Given the description of an element on the screen output the (x, y) to click on. 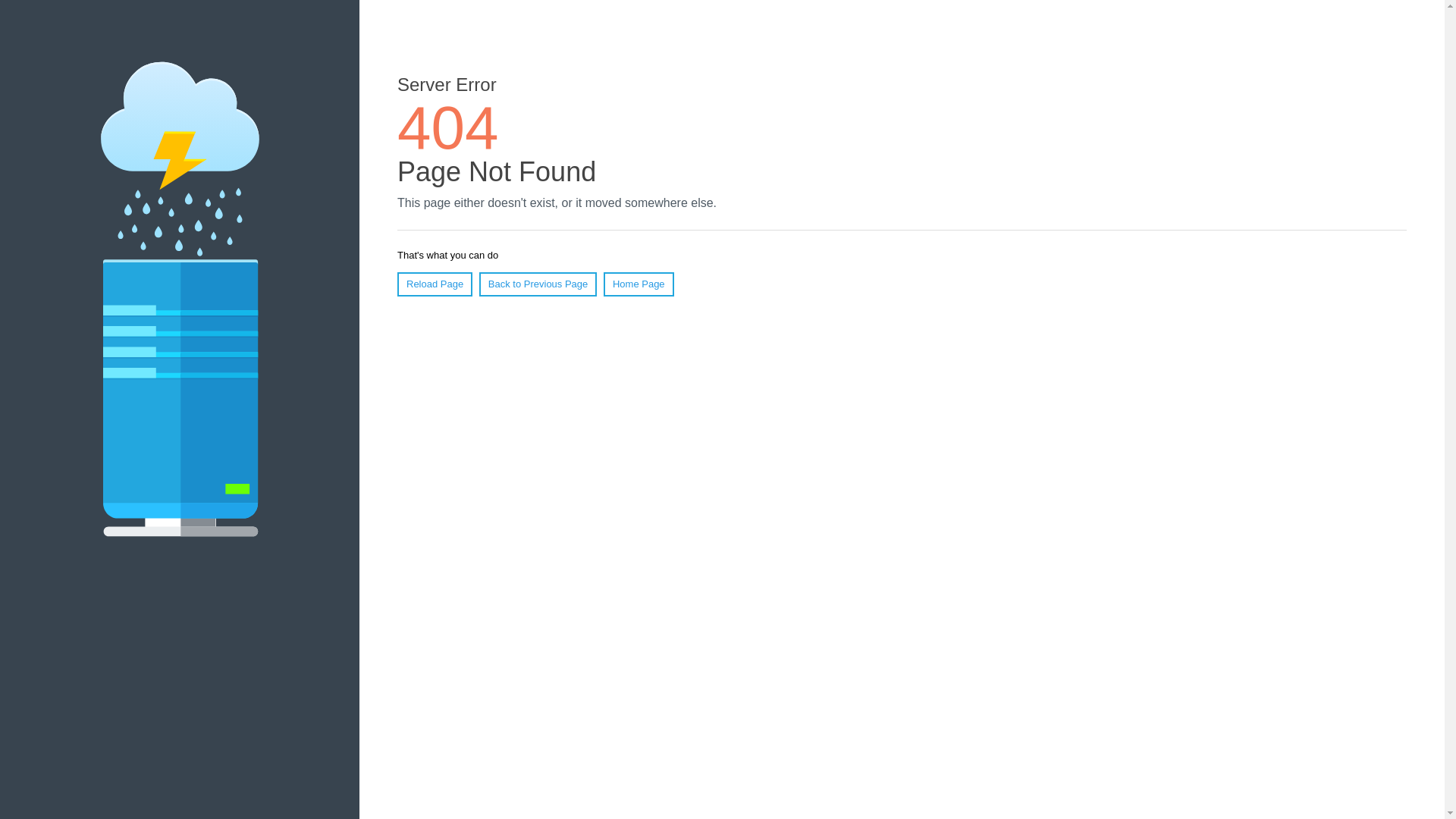
Home Page Element type: text (638, 284)
Back to Previous Page Element type: text (538, 284)
Reload Page Element type: text (434, 284)
